Given the description of an element on the screen output the (x, y) to click on. 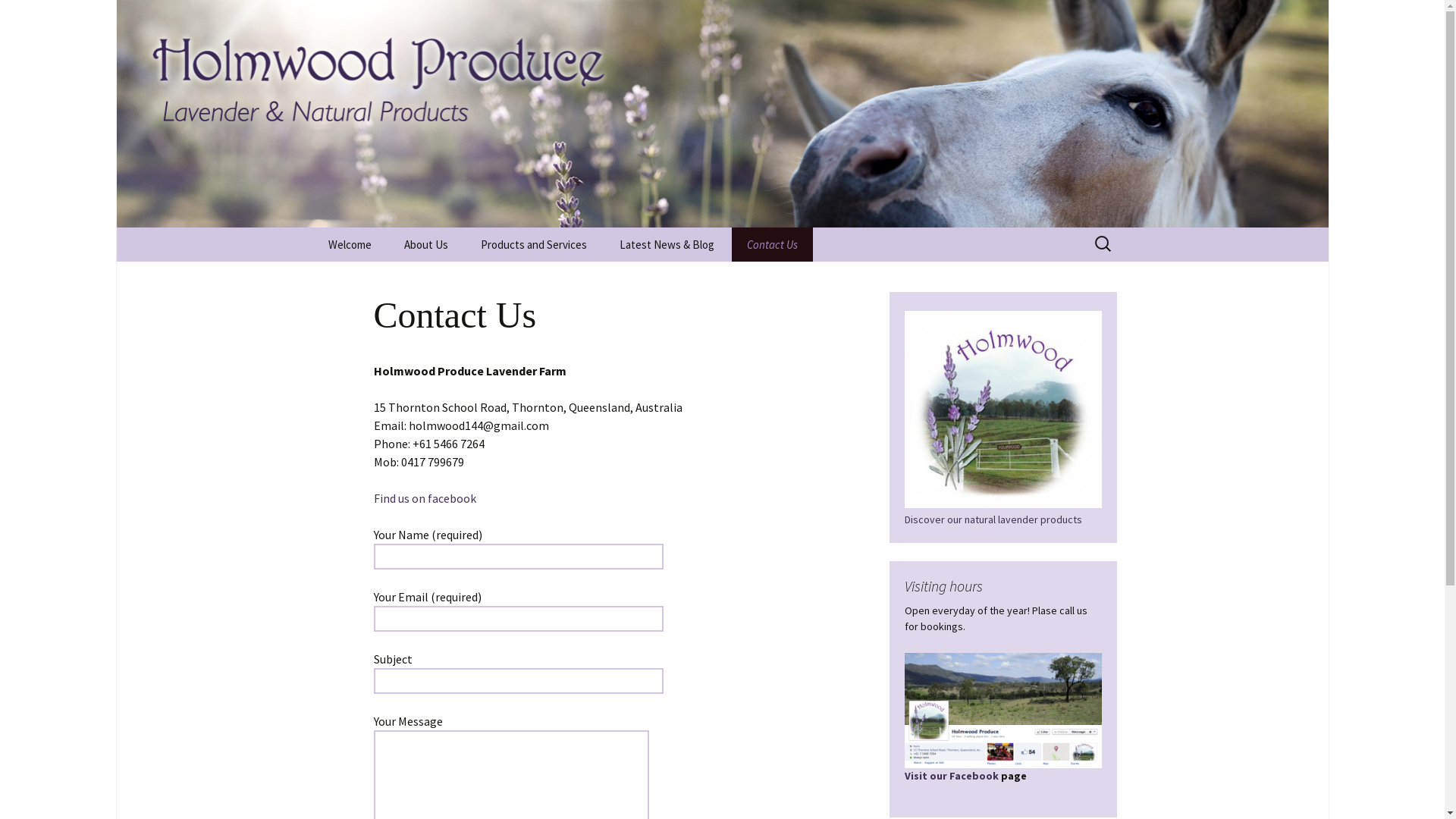
Search Element type: text (18, 16)
Visit our Facebook Element type: text (1002, 742)
Discover our natural lavender products Element type: text (1002, 463)
Holmwood skin care range Element type: text (541, 285)
Latest News & Blog Element type: text (665, 244)
Welcome Element type: text (348, 244)
Skip to content Element type: text (312, 226)
Find us on facebook Element type: text (424, 497)
Contact Us Element type: text (771, 244)
About Us Element type: text (425, 244)
Holmwood Produce
Lavender & Natural Products Element type: text (722, 113)
Products and Services Element type: text (533, 244)
